Given the description of an element on the screen output the (x, y) to click on. 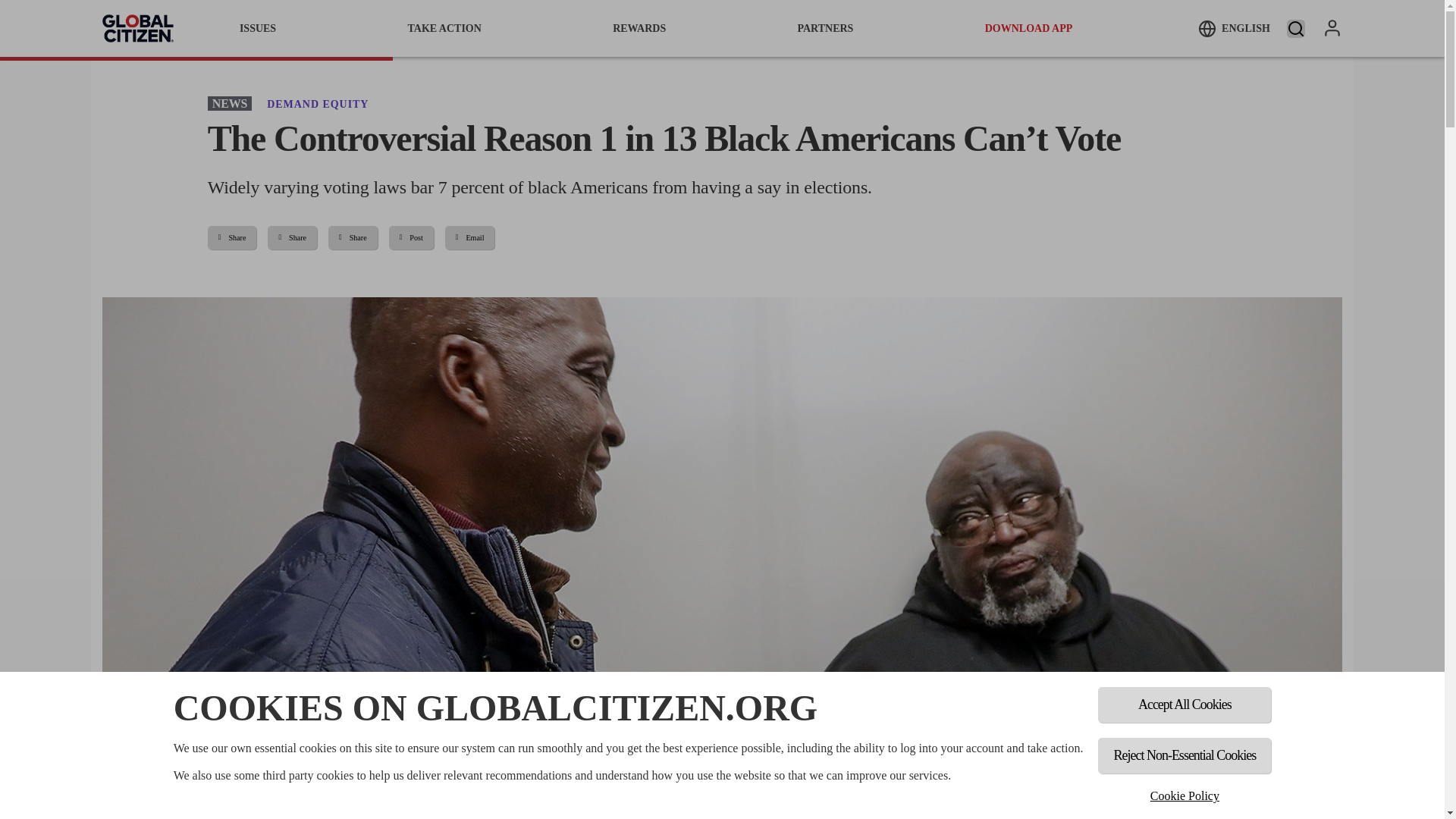
Share (232, 237)
TAKE ACTION (444, 28)
REWARDS (639, 28)
DOWNLOAD APP (1029, 28)
PARTNERS (825, 28)
ENGLISH (1233, 28)
Demand Equity (317, 103)
DEMAND EQUITY (317, 103)
ISSUES (257, 28)
